Given the description of an element on the screen output the (x, y) to click on. 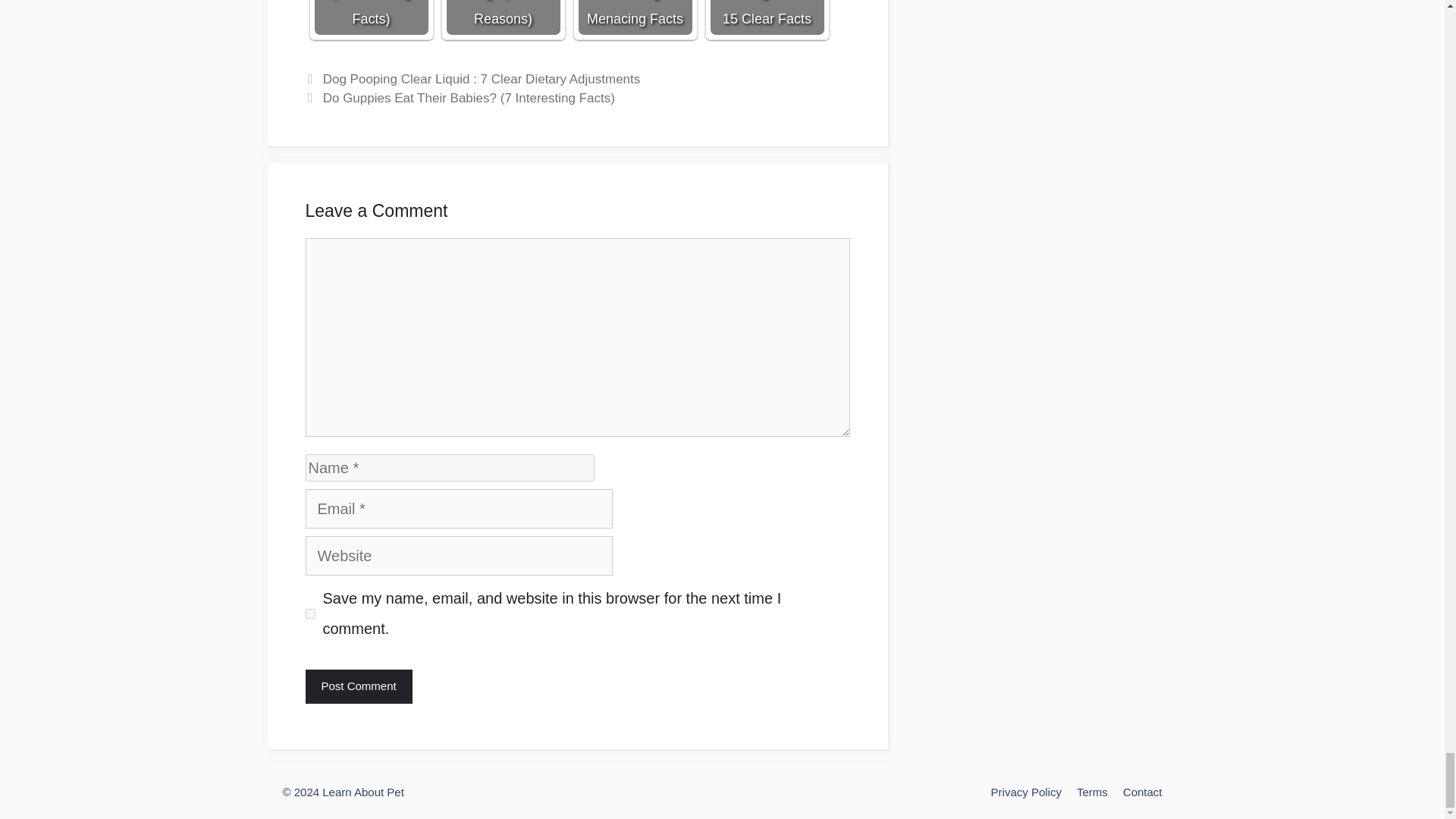
yes (309, 614)
Post Comment (358, 686)
